Given the description of an element on the screen output the (x, y) to click on. 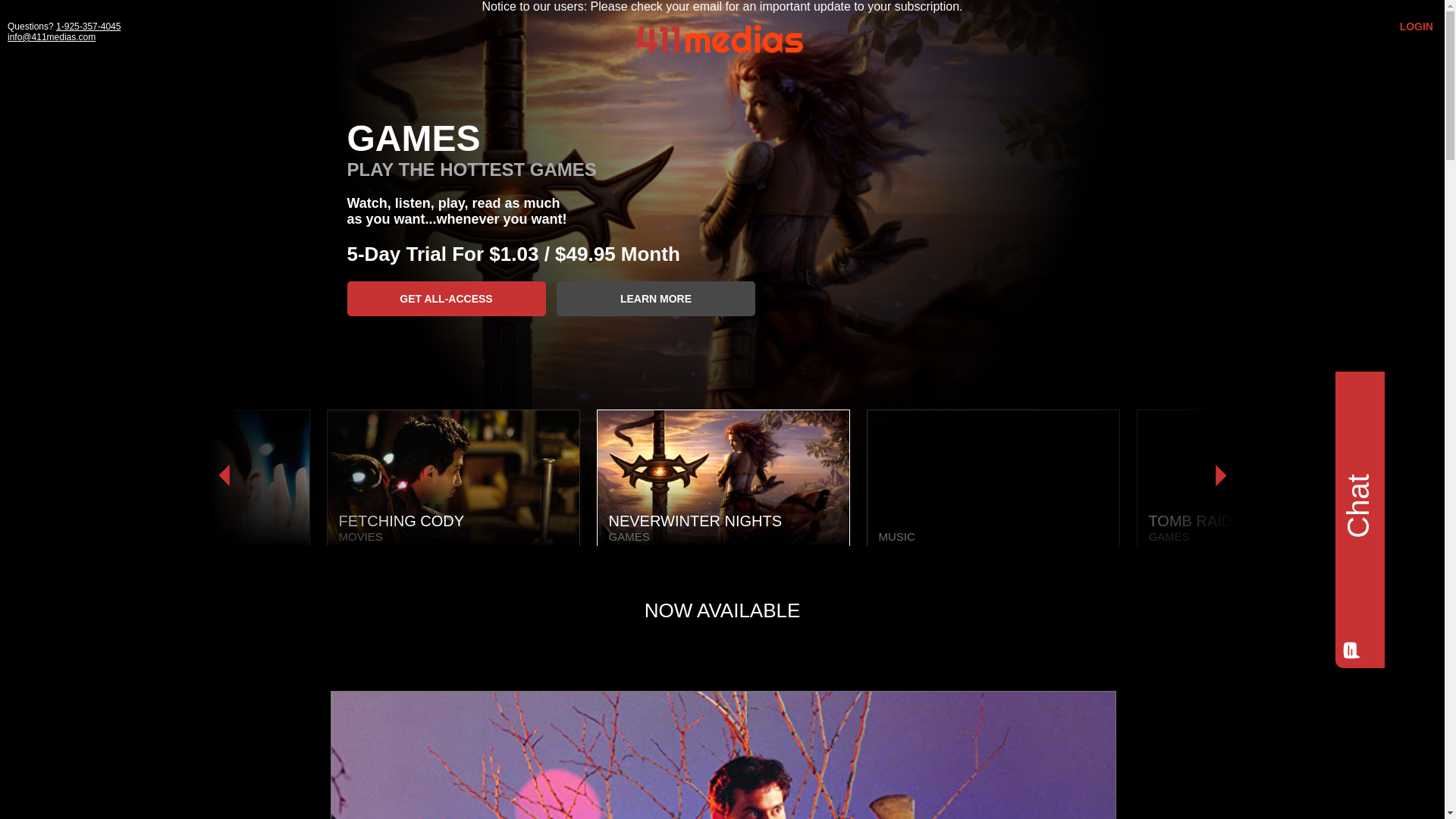
GET ALL-ACCESS Element type: text (446, 298)
LOGIN Element type: text (1416, 26)
1-925-357-4045 Element type: text (88, 26)
LEARN MORE Element type: text (655, 298)
info@411medias.com Element type: text (51, 36)
